Given the description of an element on the screen output the (x, y) to click on. 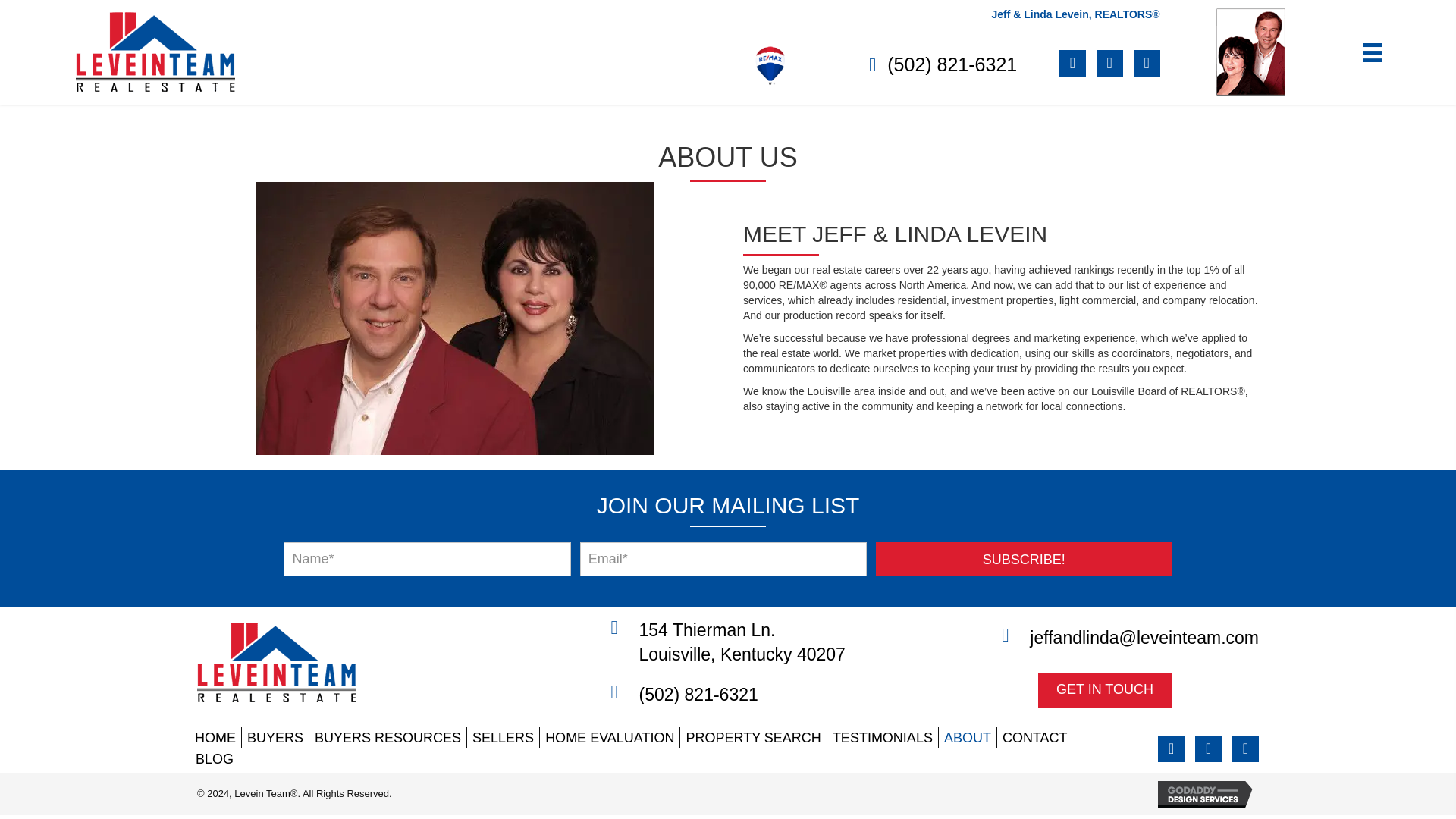
BUYERS RESOURCES (386, 737)
SELLERS (502, 737)
SUBSCRIBE! (1024, 559)
logo-top (154, 51)
HOME EVALUATION (609, 737)
BLOG (214, 758)
HOME (215, 737)
uabb-menu-toggle (1371, 52)
GET IN TOUCH (1105, 689)
TESTIMONIALS (882, 737)
